Given the description of an element on the screen output the (x, y) to click on. 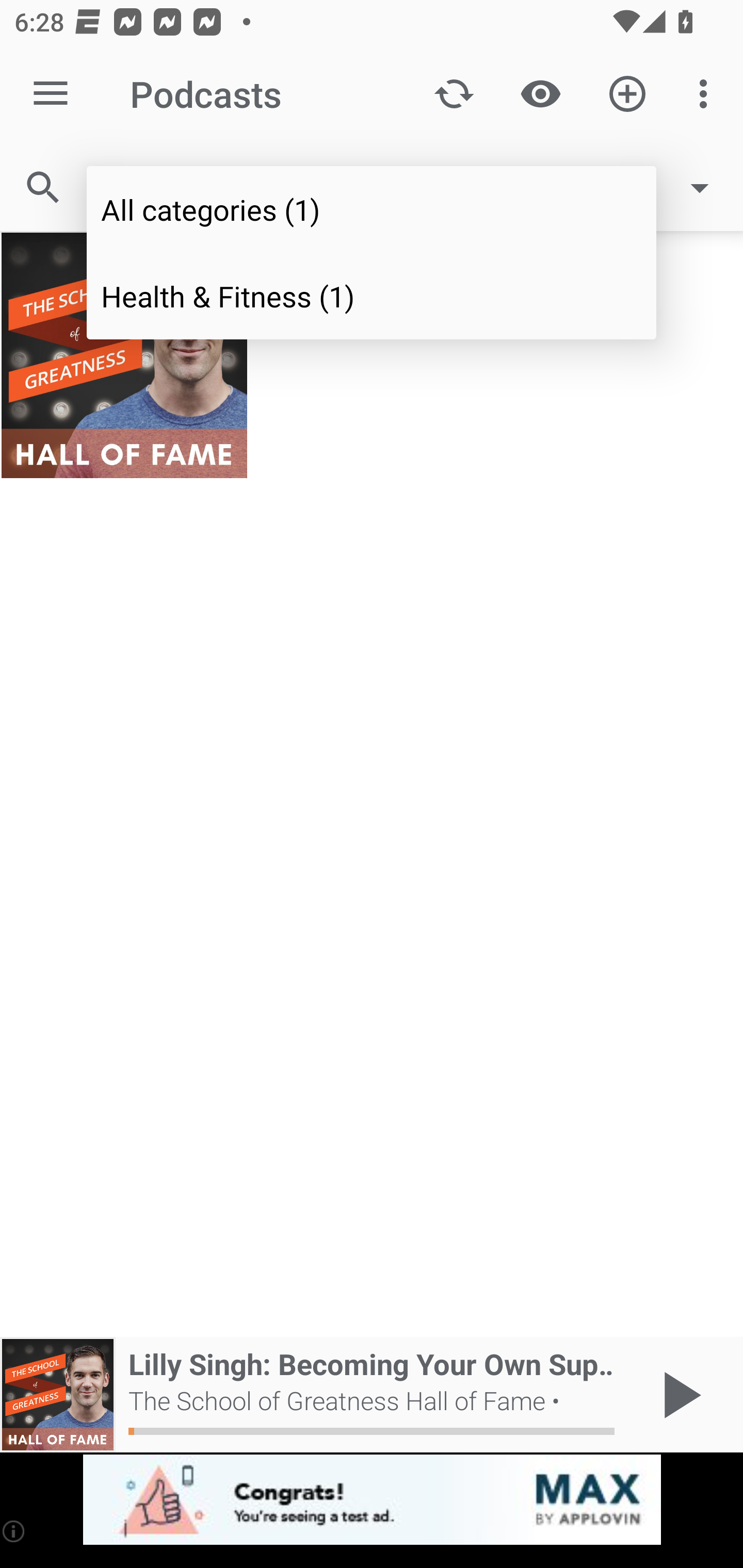
All categories (1) (371, 209)
Health & Fitness (1) (371, 295)
